Given the description of an element on the screen output the (x, y) to click on. 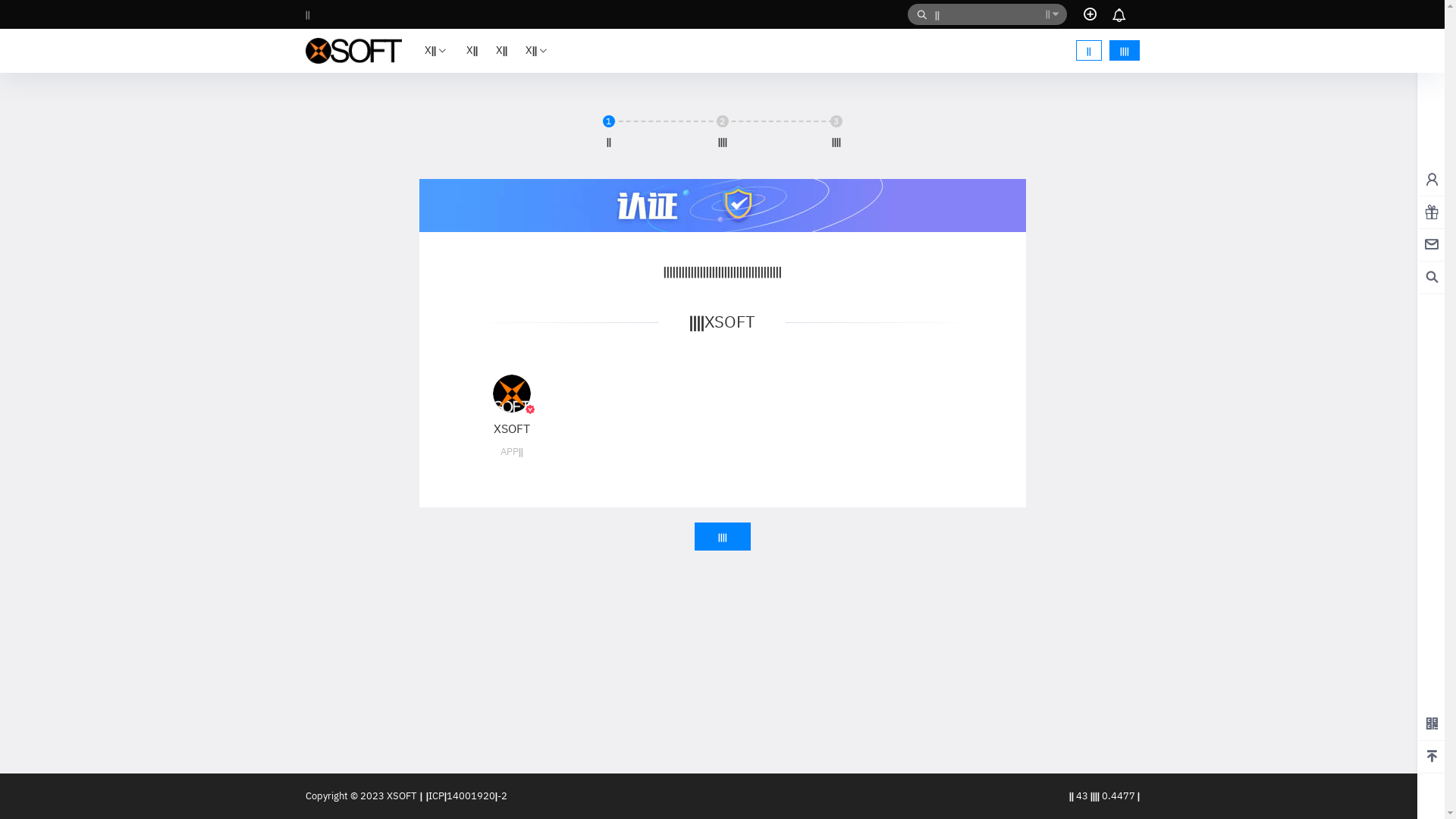
 XSOFT Element type: text (399, 795)
XSOFT Element type: text (511, 428)
